Given the description of an element on the screen output the (x, y) to click on. 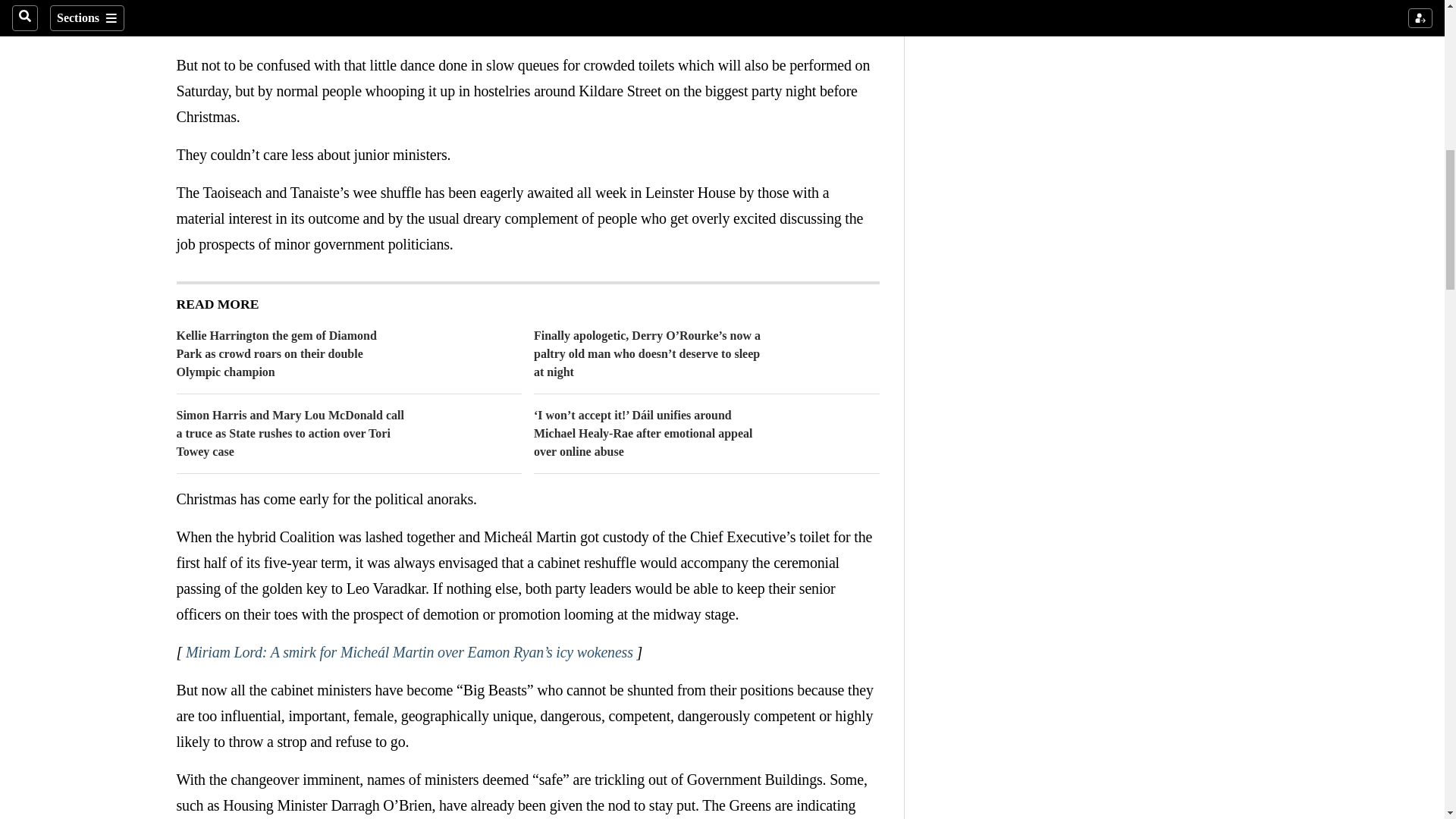
WhatsApp (275, 1)
X (244, 1)
Facebook (215, 1)
